Given the description of an element on the screen output the (x, y) to click on. 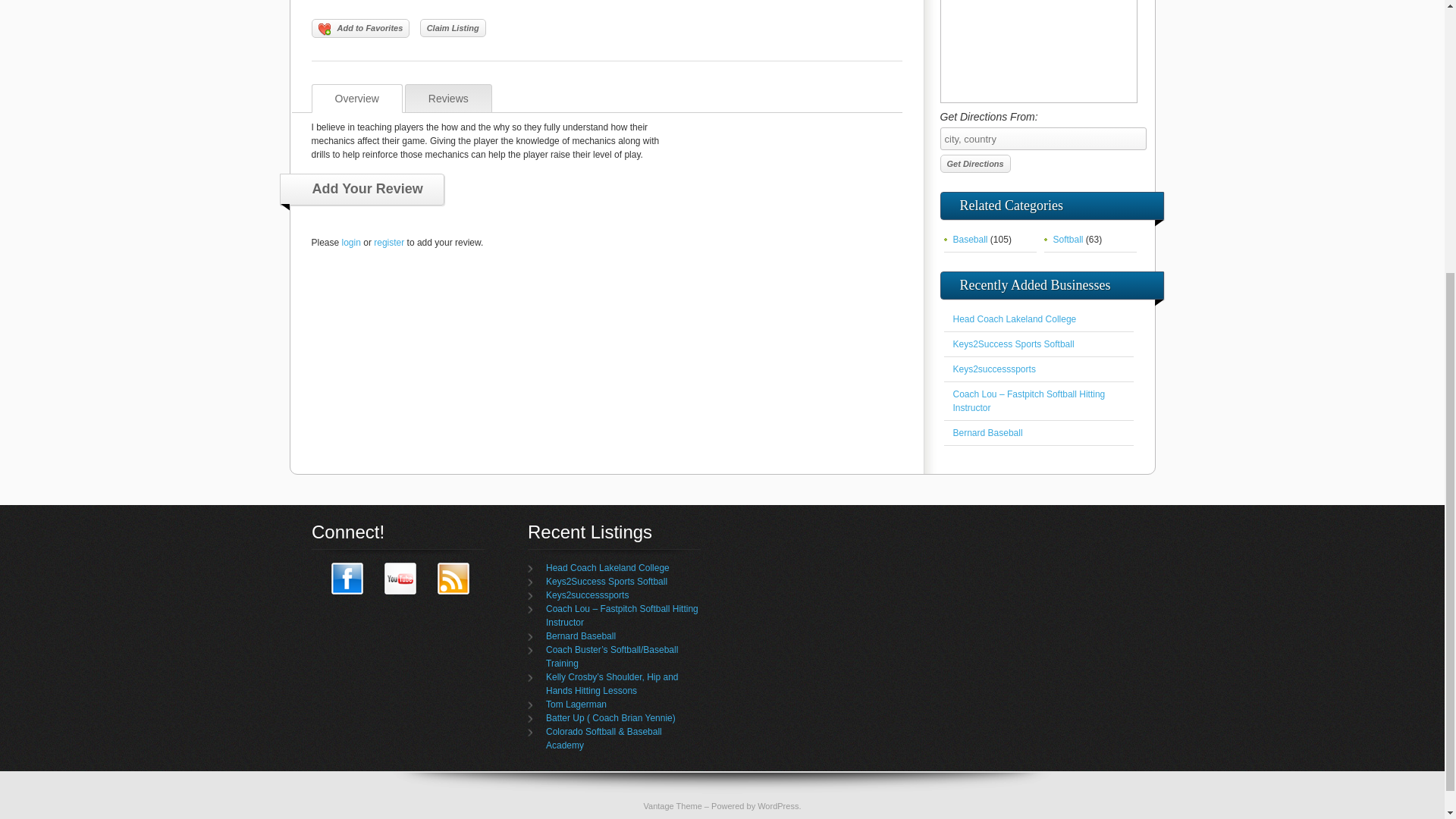
Overview (356, 98)
Add to Favorites (360, 27)
Keys2Success Sports Softball (1013, 344)
Head Coach Lakeland College (1013, 318)
Reviews (448, 98)
Claim Listing (453, 27)
Bernard Baseball (580, 635)
Keys2successsports (587, 594)
Keys2successsports (587, 594)
Keys2successsports (993, 368)
Head Coach Lakeland College (607, 567)
Softball (1067, 239)
Head Coach Lakeland College (1013, 318)
Head Coach Lakeland College (607, 567)
Keys2successsports (993, 368)
